Given the description of an element on the screen output the (x, y) to click on. 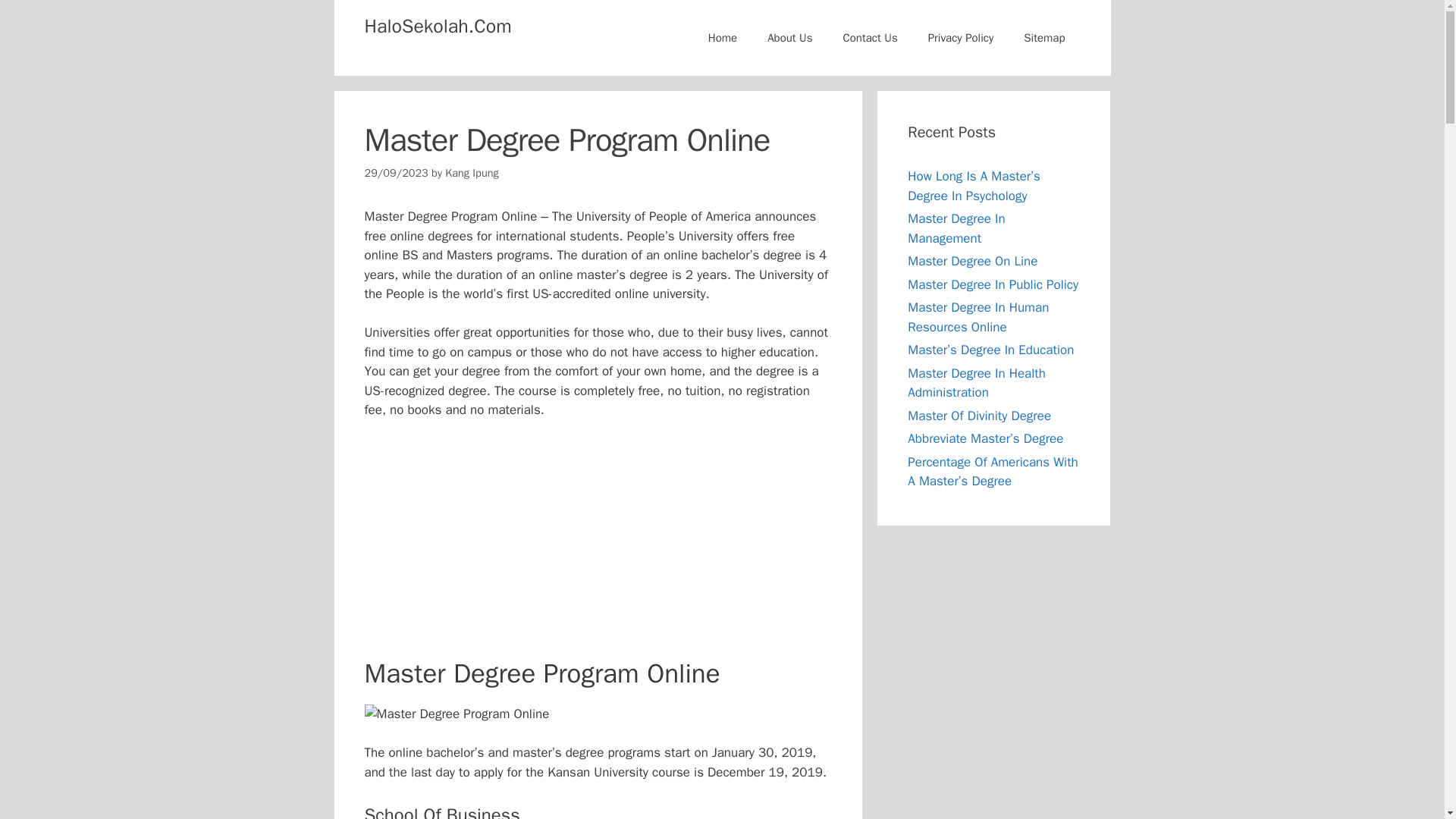
Privacy Policy (960, 37)
Contact Us (869, 37)
Kang Ipung (471, 172)
Master Of Divinity Degree (979, 415)
Advertisement (604, 544)
Master Degree In Health Administration (976, 383)
Home (722, 37)
Master Degree In Public Policy (992, 283)
Master Degree In Management (955, 228)
About Us (789, 37)
